Given the description of an element on the screen output the (x, y) to click on. 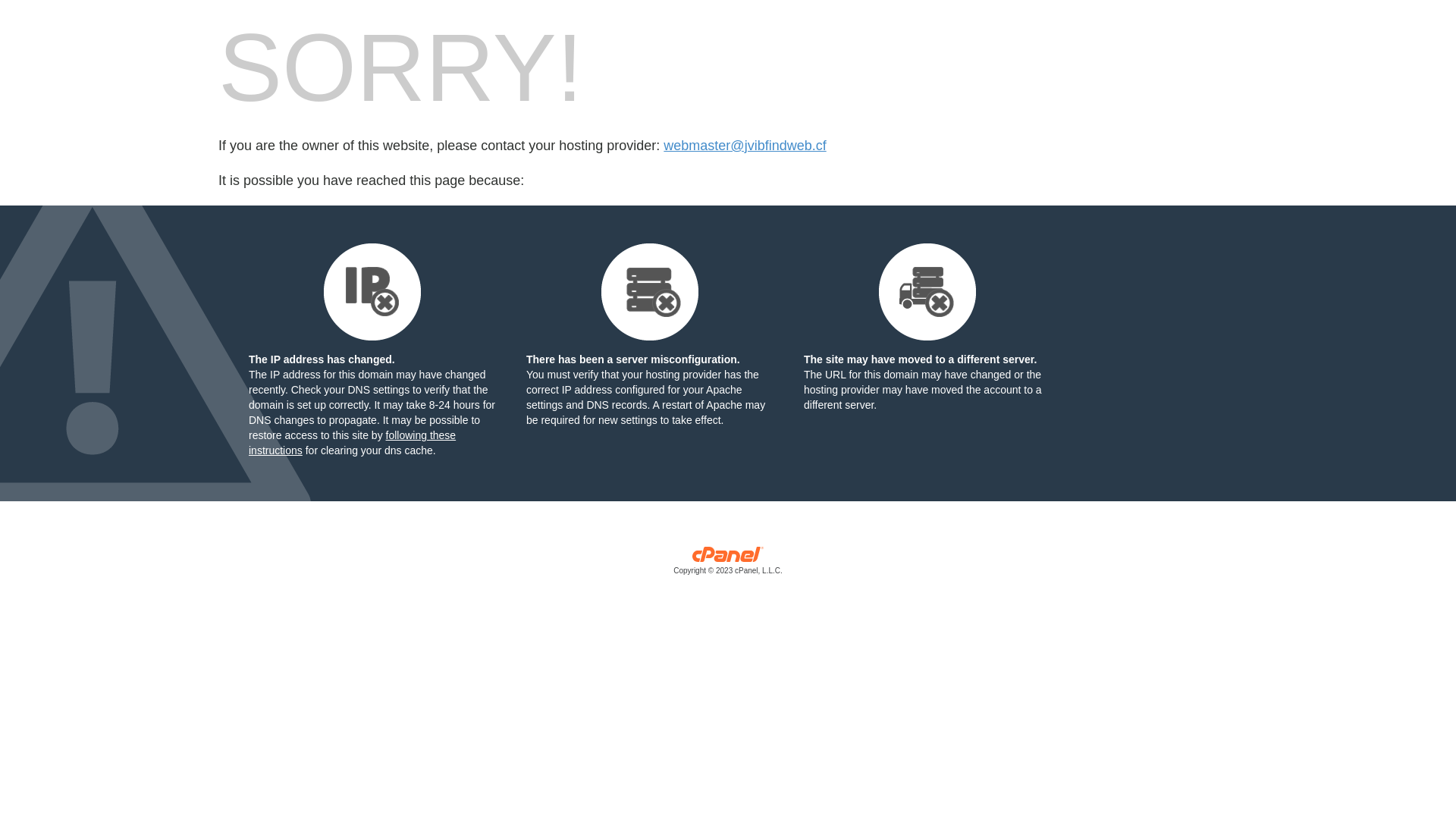
webmaster@jvibfindweb.cf Element type: text (744, 145)
following these instructions Element type: text (351, 442)
